Given the description of an element on the screen output the (x, y) to click on. 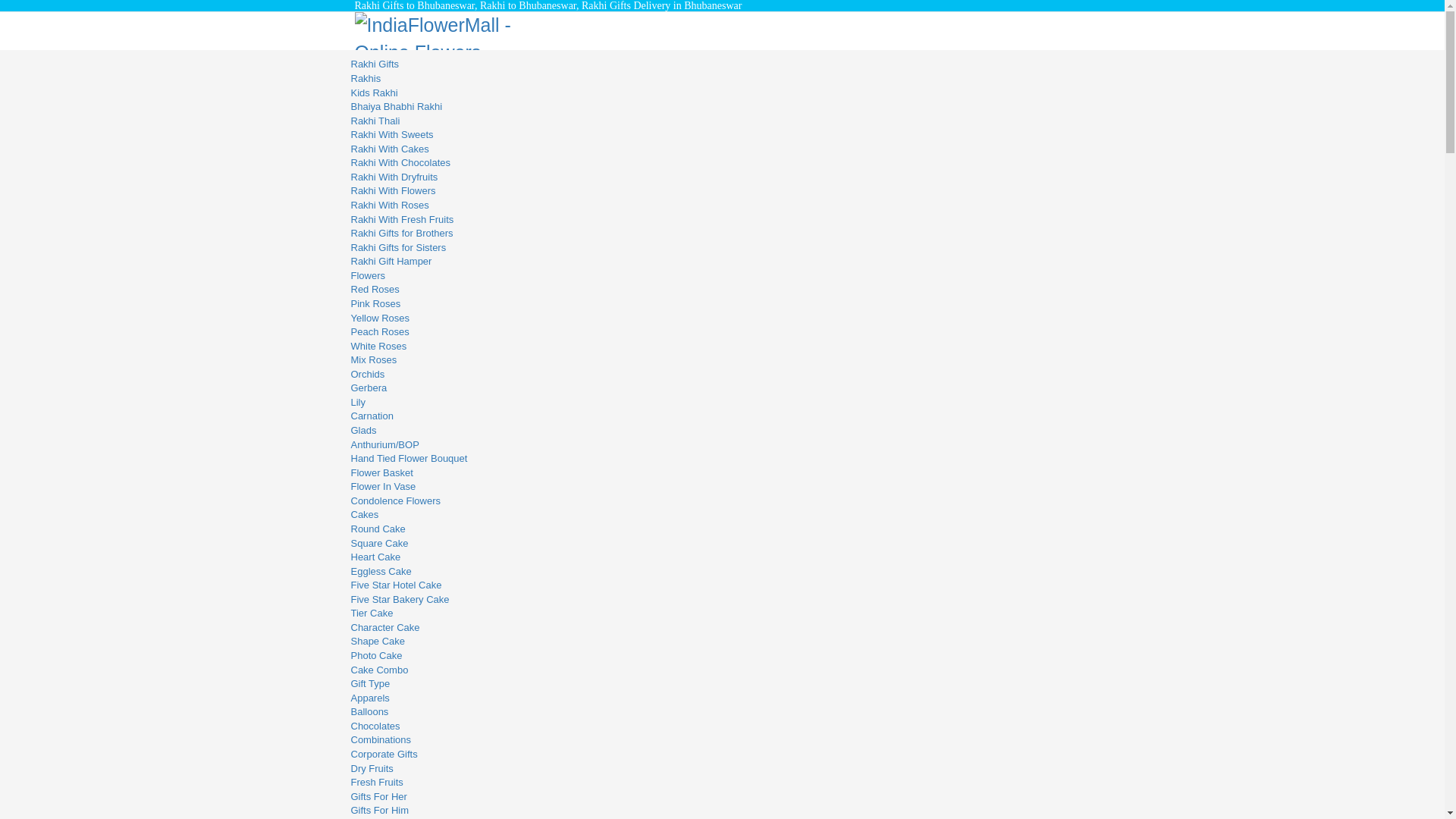
Pink Rose Bouquet (375, 303)
Round Cake (377, 528)
Rakhi With Fresh Fruits Online (401, 219)
Gerbera (368, 387)
Rakhi With Dryfruits (394, 176)
Rakhi With Flowers (392, 190)
Eggless Cake (380, 571)
Lily (357, 401)
Rakhi With Sweets (391, 134)
Flower Basket (381, 472)
Red Roses (374, 288)
Flower In Vase (382, 486)
Red Rose Bouquet (374, 288)
Rakhi With Roses (389, 204)
Rakhi With Chocolates (399, 162)
